Given the description of an element on the screen output the (x, y) to click on. 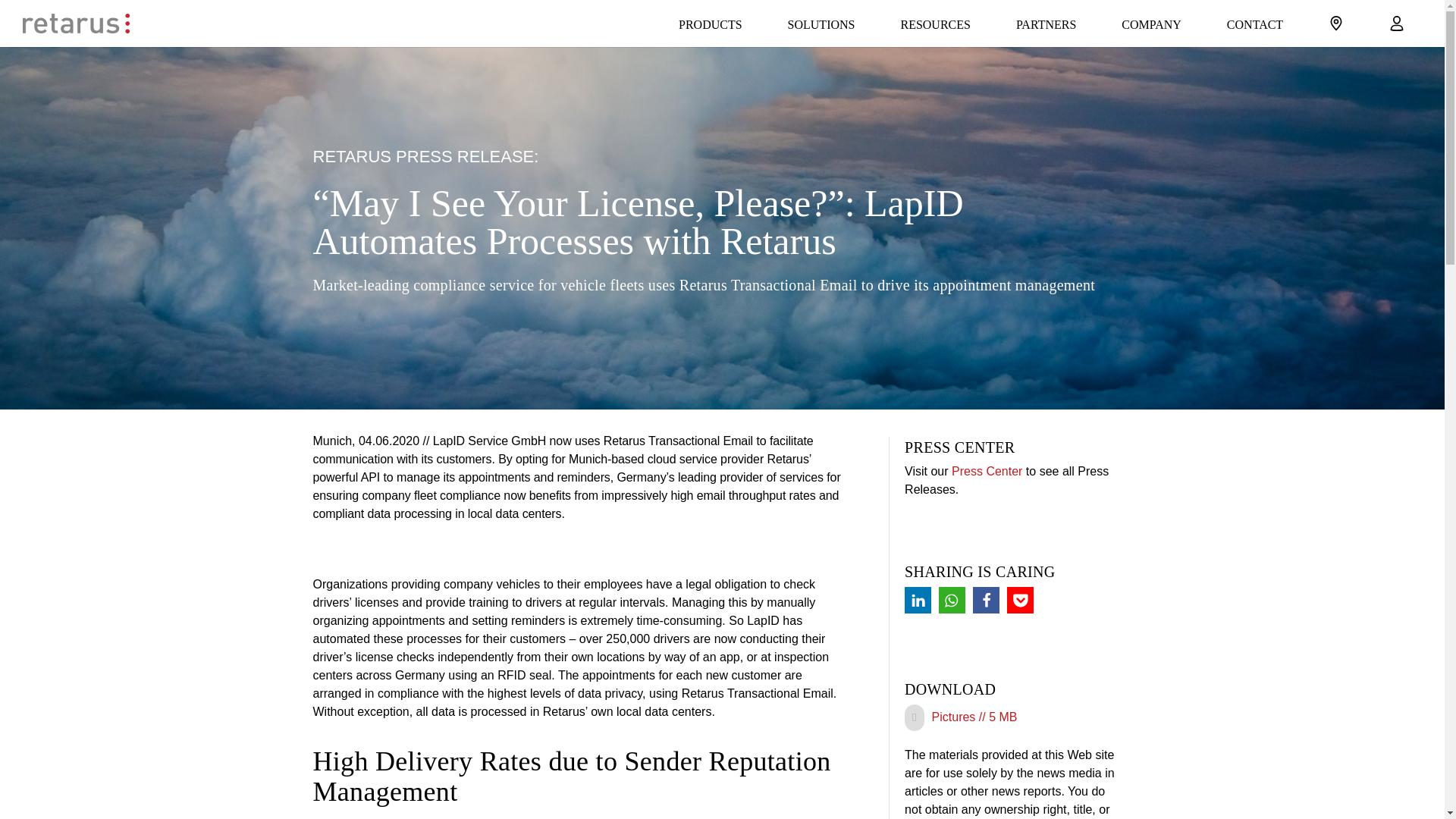
Share on Whatsapp (952, 600)
Share on LinkedIn (917, 600)
Share on Facebook (985, 600)
Save to Pocket (1020, 600)
SOLUTIONS (821, 22)
PRODUCTS (710, 22)
